Given the description of an element on the screen output the (x, y) to click on. 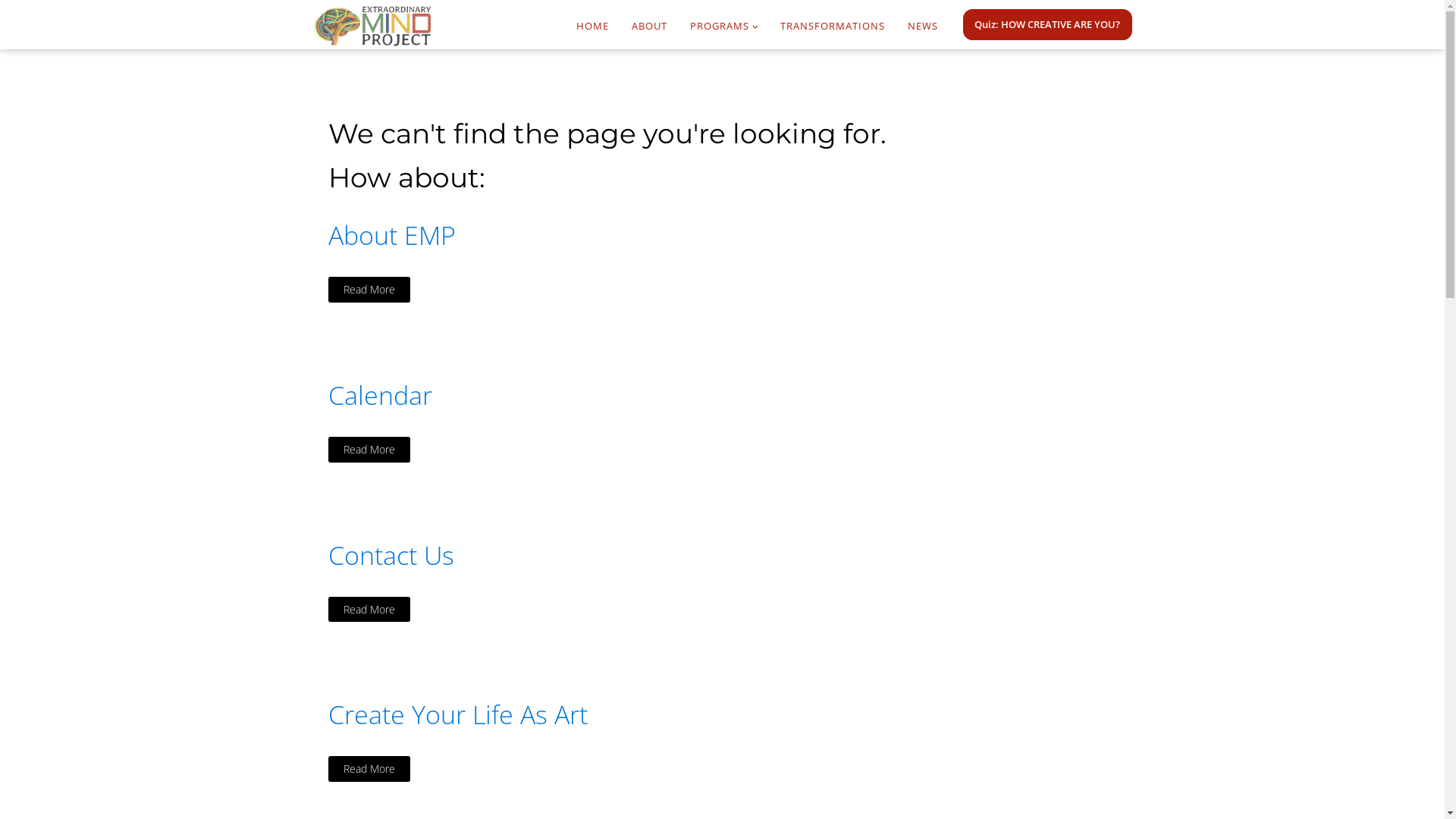
About EMP Element type: text (391, 235)
Contact Us Element type: text (390, 555)
Calendar Element type: text (379, 395)
PROGRAMS Element type: text (723, 25)
Create Your Life As Art Element type: text (456, 714)
Read More Element type: text (368, 768)
Read More Element type: text (368, 609)
Read More Element type: text (368, 289)
ABOUT Element type: text (649, 25)
Quiz: HOW CREATIVE ARE YOU? Element type: text (1047, 24)
HOME Element type: text (592, 25)
TRANSFORMATIONS Element type: text (832, 25)
NEWS Element type: text (922, 25)
Read More Element type: text (368, 449)
